Given the description of an element on the screen output the (x, y) to click on. 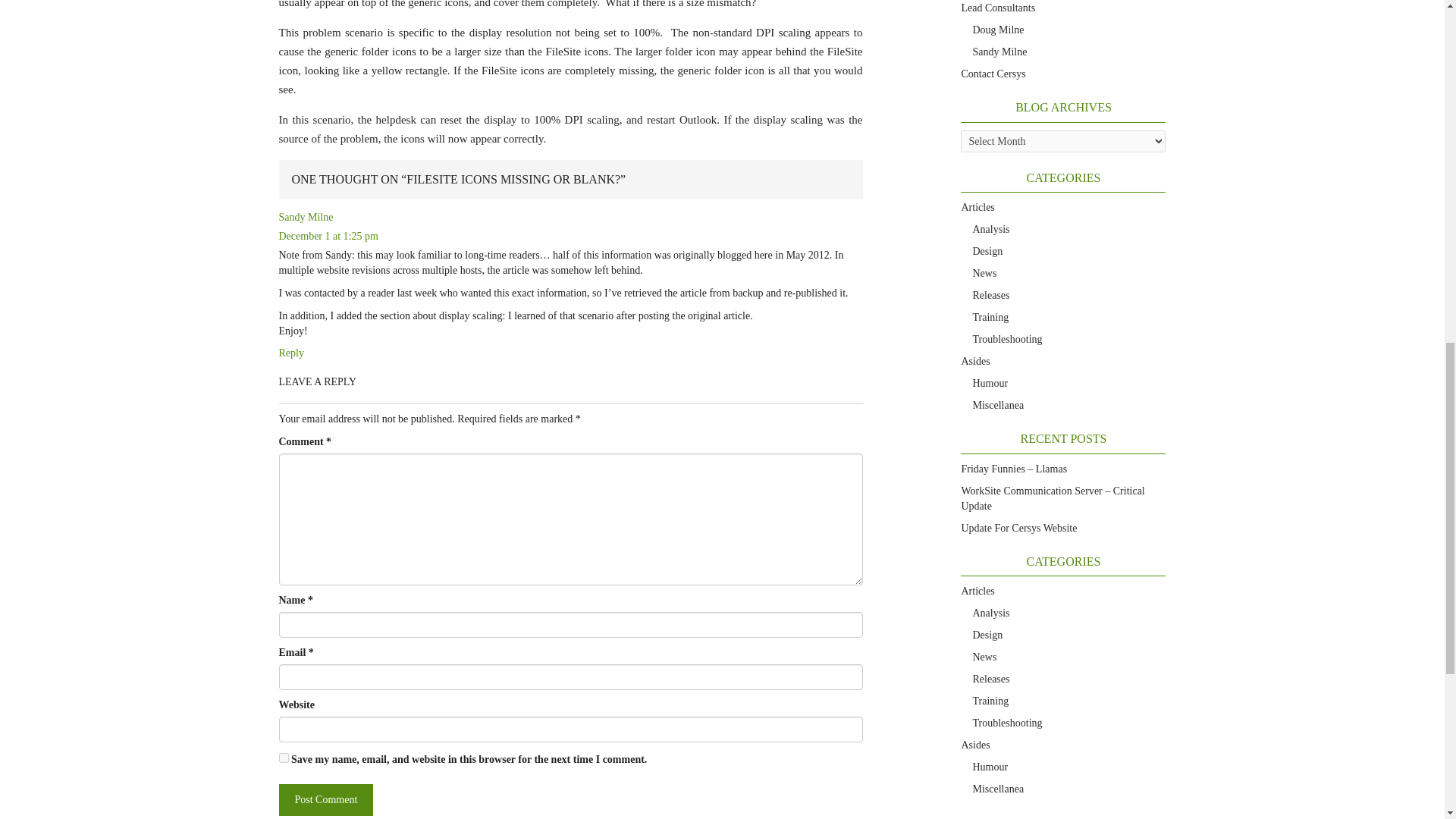
Reply (291, 352)
yes (283, 757)
Sandy Milne (306, 216)
Post Comment (326, 799)
December 1 at 1:25 pm (328, 235)
Post Comment (326, 799)
